Given the description of an element on the screen output the (x, y) to click on. 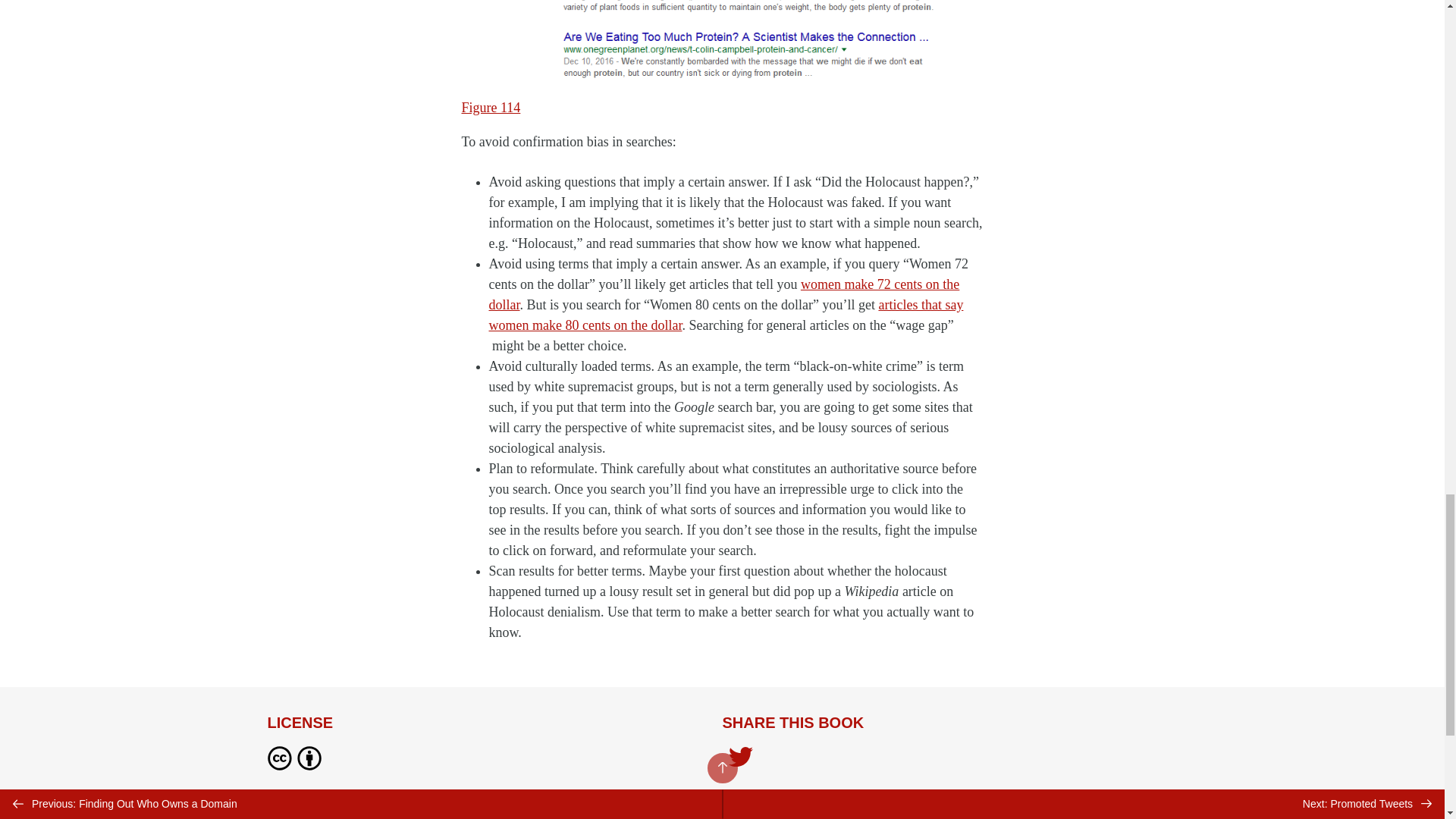
Web Literacy for Student Fact-Checkers (387, 812)
Share on Twitter (740, 758)
Figure 114 (490, 107)
articles that say women make 80 cents on the dollar (724, 314)
Share on Twitter (740, 760)
women make 72 cents on the dollar (723, 294)
